Given the description of an element on the screen output the (x, y) to click on. 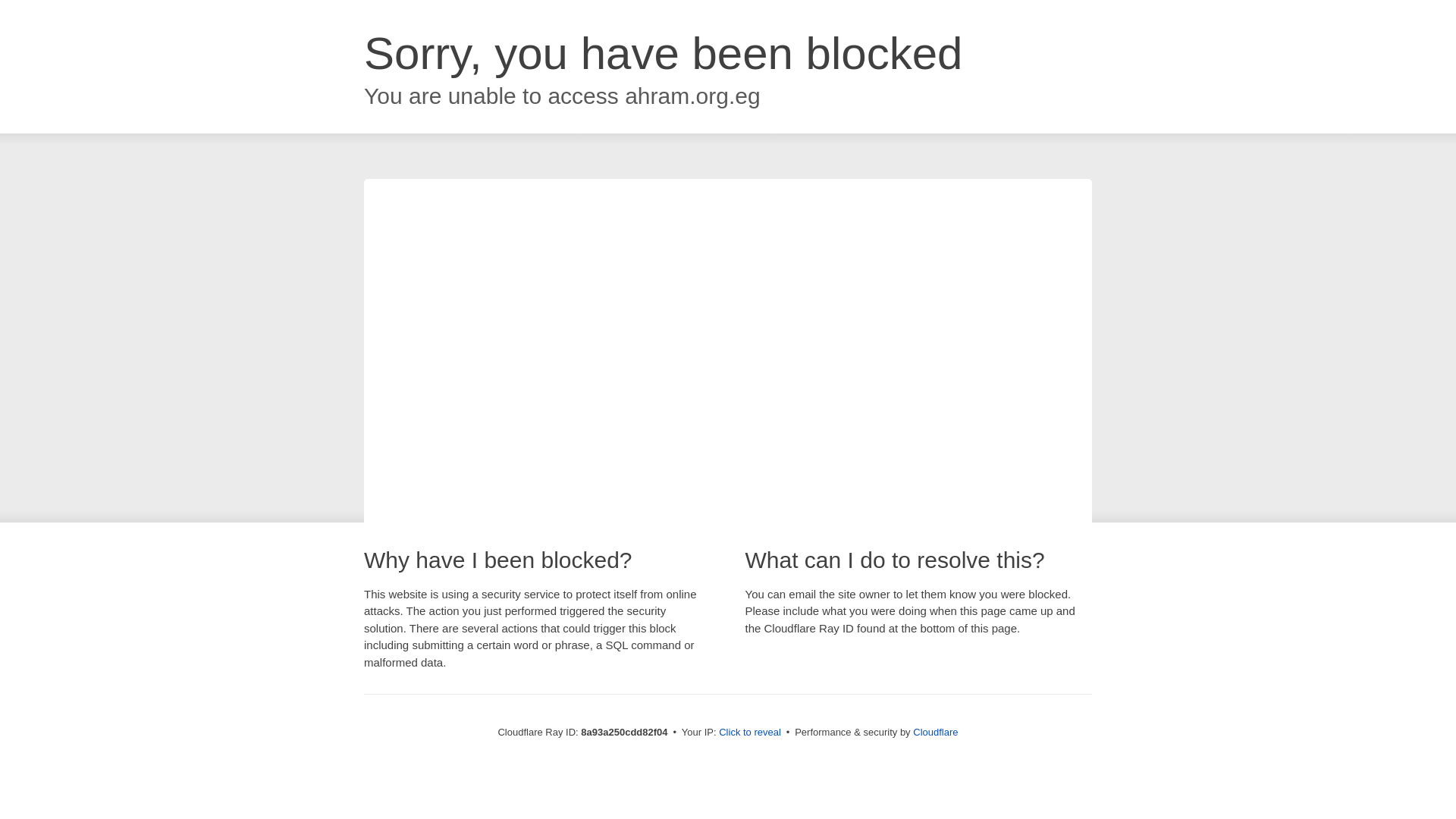
Click to reveal (749, 732)
Cloudflare (935, 731)
